Given the description of an element on the screen output the (x, y) to click on. 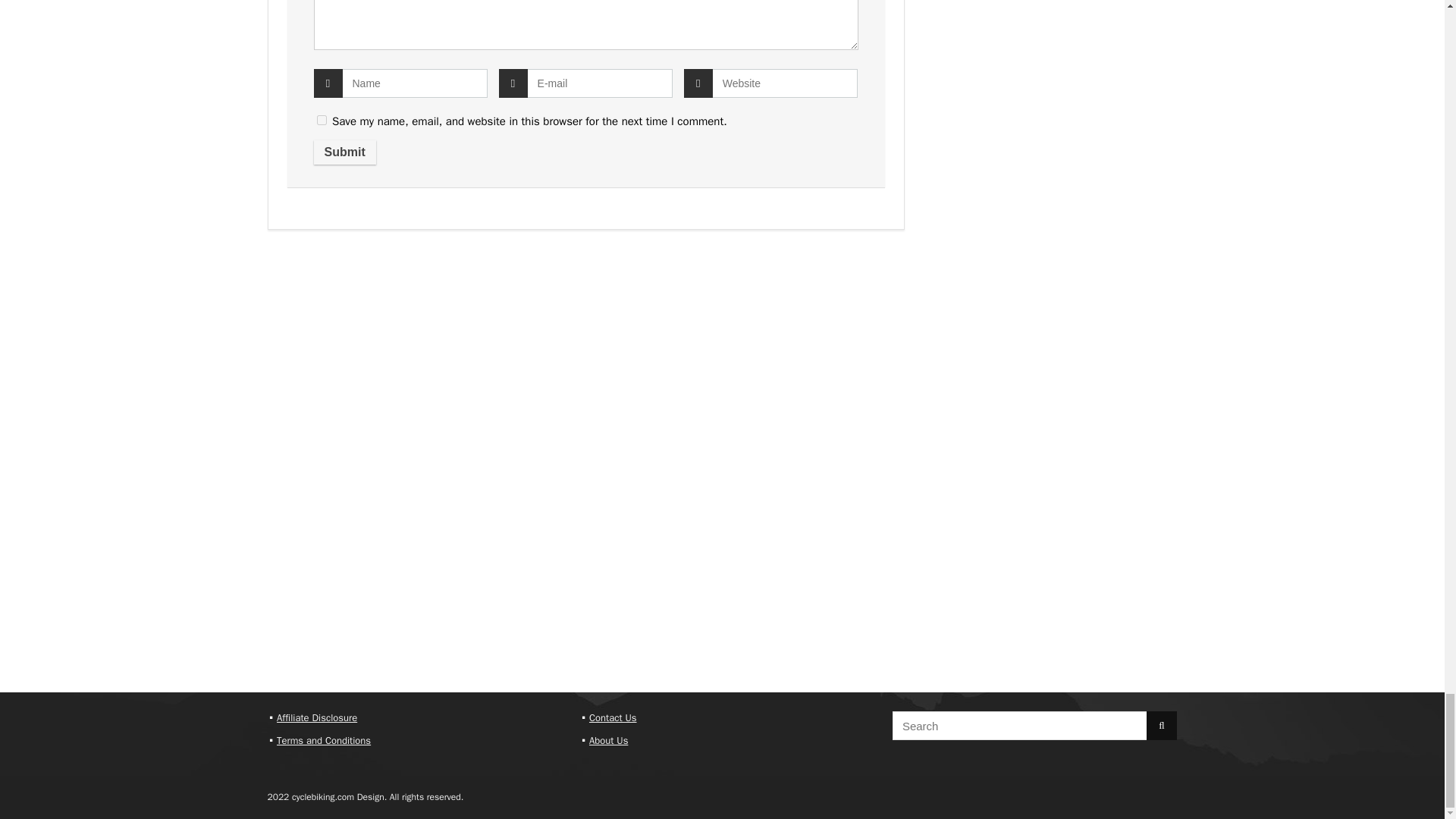
About Us (608, 739)
Submit (344, 152)
Terms and Conditions (323, 739)
yes (321, 120)
Affiliate Disclosure (316, 717)
Submit (344, 152)
Contact Us (613, 717)
